Given the description of an element on the screen output the (x, y) to click on. 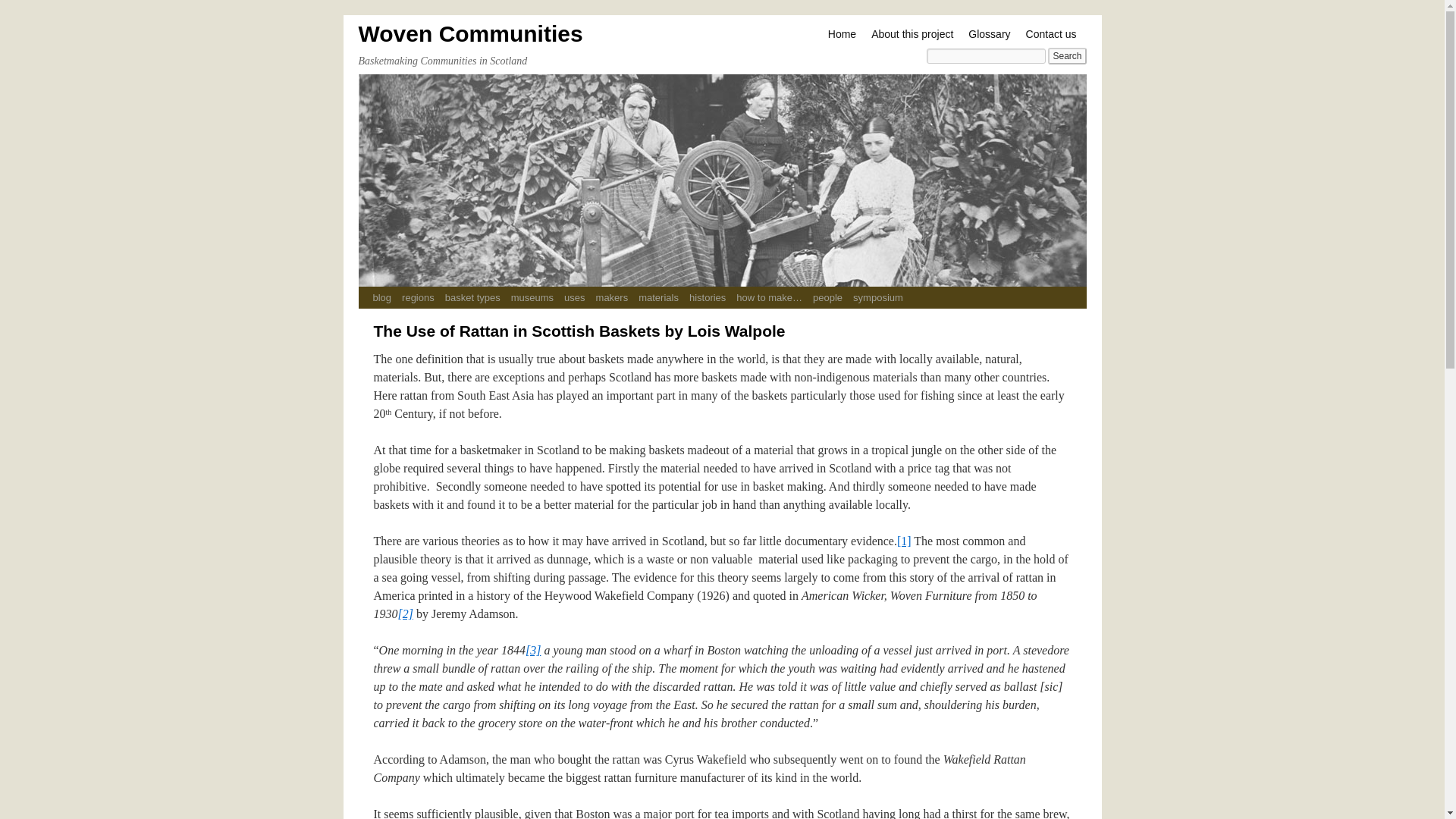
Search (1067, 55)
people (827, 297)
makers (612, 297)
museums (532, 297)
blog (381, 297)
Home (841, 33)
regions (417, 297)
About this project (912, 33)
basket types (472, 297)
uses (574, 297)
Woven Communities (470, 33)
Glossary (988, 33)
Woven Communities (470, 33)
materials (658, 297)
Contact us (1050, 33)
